Given the description of an element on the screen output the (x, y) to click on. 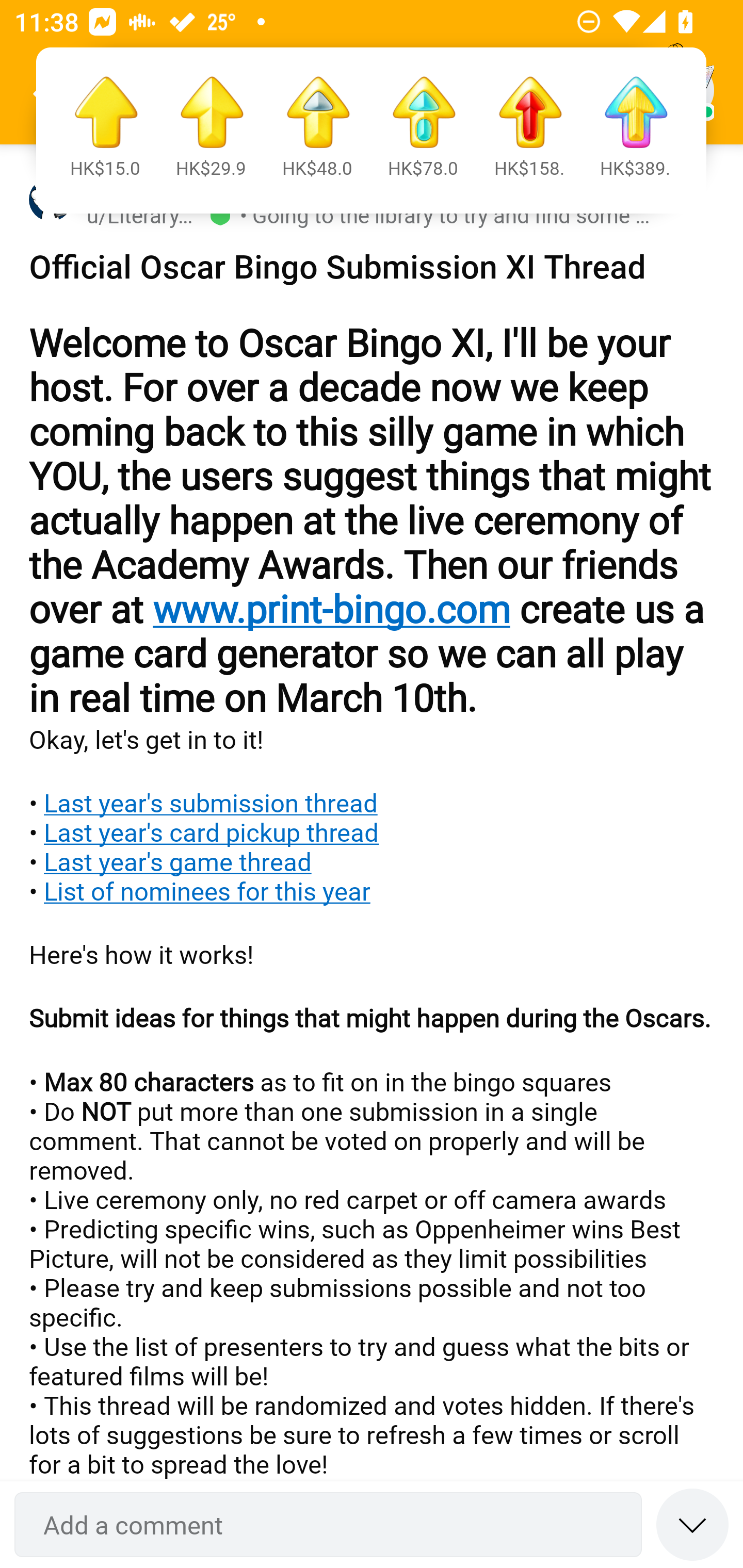
Speed read (692, 1524)
Add a comment (327, 1524)
